Given the description of an element on the screen output the (x, y) to click on. 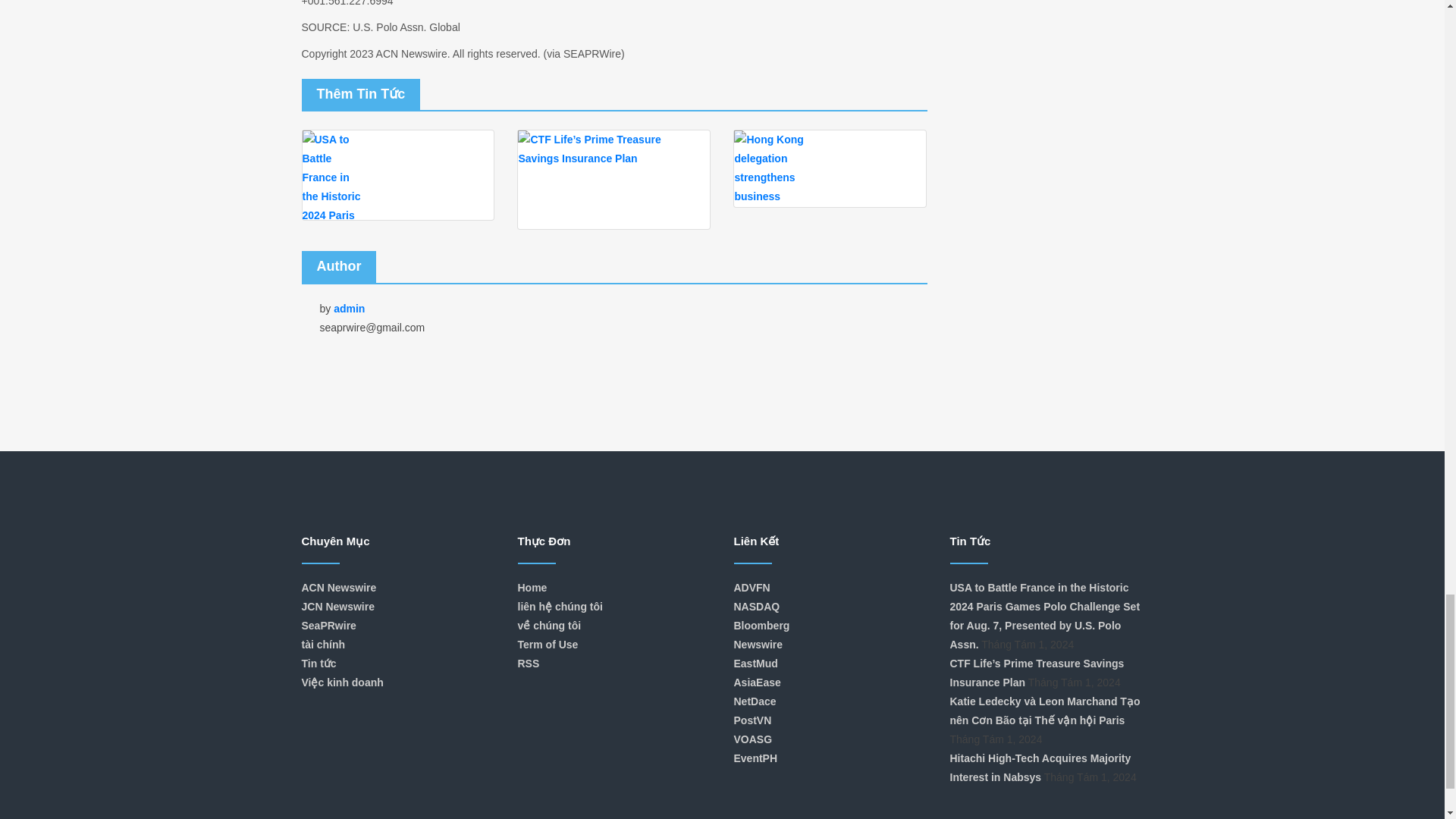
admin (350, 308)
